Given the description of an element on the screen output the (x, y) to click on. 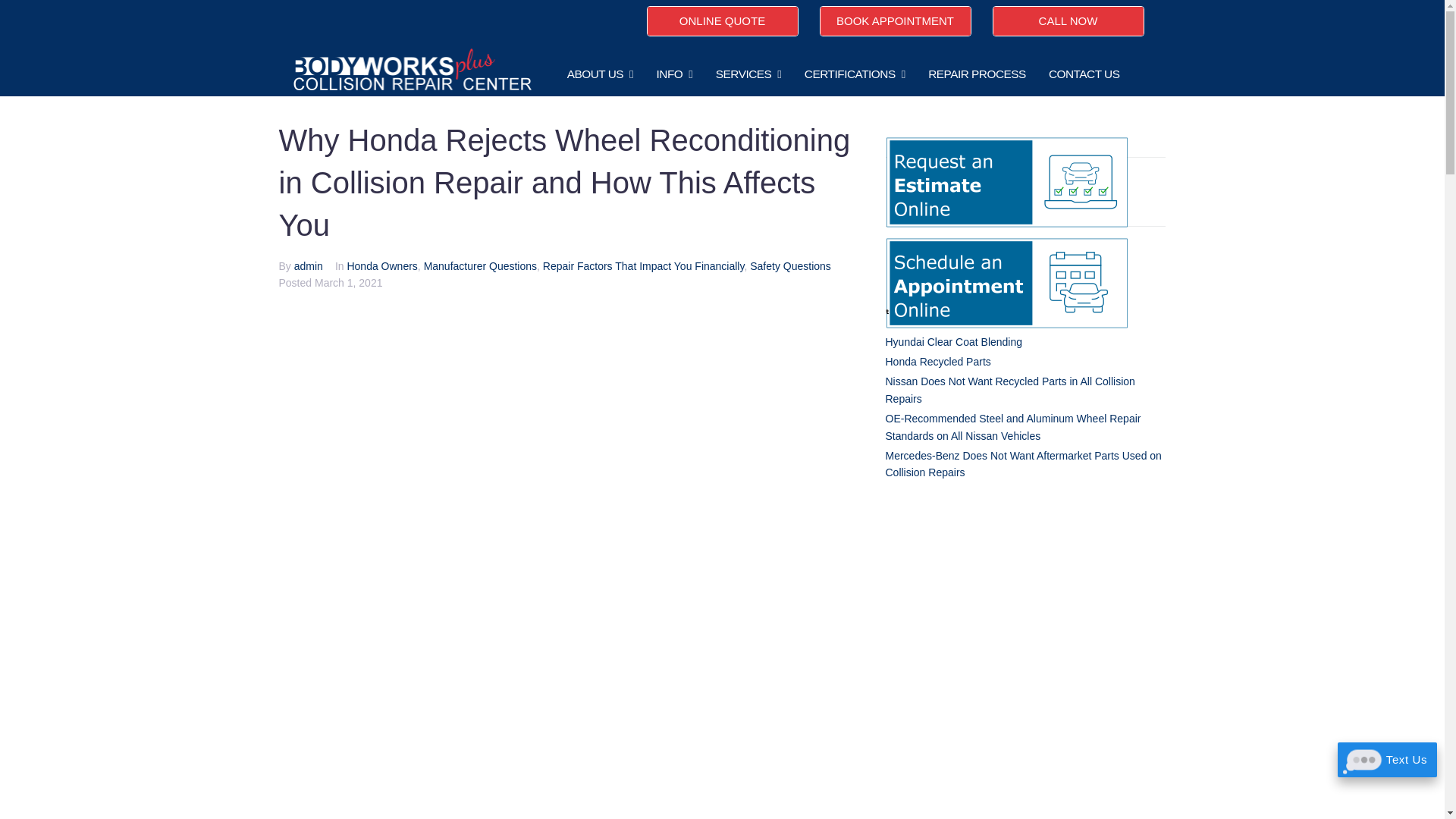
CALL NOW (1066, 20)
ABOUT US (600, 74)
INFO (674, 74)
ONLINE QUOTE (721, 20)
CERTIFICATIONS (855, 74)
BOOK APPOINTMENT (894, 20)
SERVICES (748, 74)
